Given the description of an element on the screen output the (x, y) to click on. 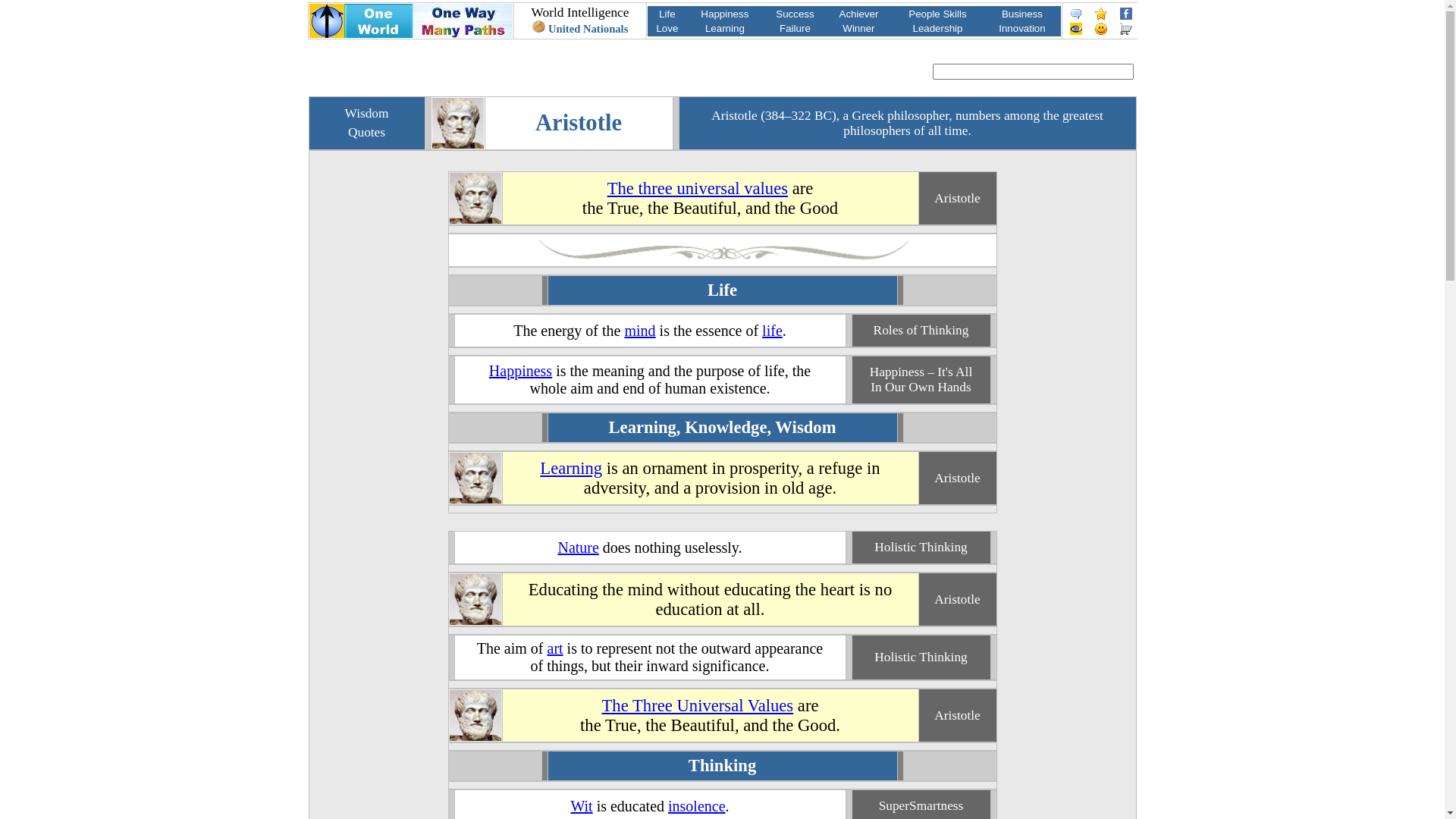
Aristotle Element type: hover (457, 144)
Aristotle Element type: text (957, 715)
mind Element type: text (639, 329)
The three universal values Element type: text (697, 187)
Wisdom Element type: text (366, 113)
Aristotle Element type: text (957, 477)
Aristotle Element type: text (957, 598)
Aristotle Element type: hover (474, 498)
Aristotle Element type: text (957, 198)
Learning Element type: text (570, 467)
The Three Universal Values Element type: text (697, 705)
life Element type: text (772, 329)
SuperSmartness Element type: text (920, 805)
Wit Element type: text (581, 805)
Aristotle Element type: hover (474, 620)
art Element type: text (555, 648)
Aristotle Element type: hover (474, 219)
Aristotle Element type: hover (474, 736)
Quotes Element type: text (366, 132)
Nature Element type: text (577, 546)
Holistic Thinking Element type: text (920, 656)
insolence Element type: text (696, 805)
Holistic Thinking Element type: text (920, 546)
Happiness Element type: text (520, 370)
Roles of Thinking Element type: text (921, 330)
